Given the description of an element on the screen output the (x, y) to click on. 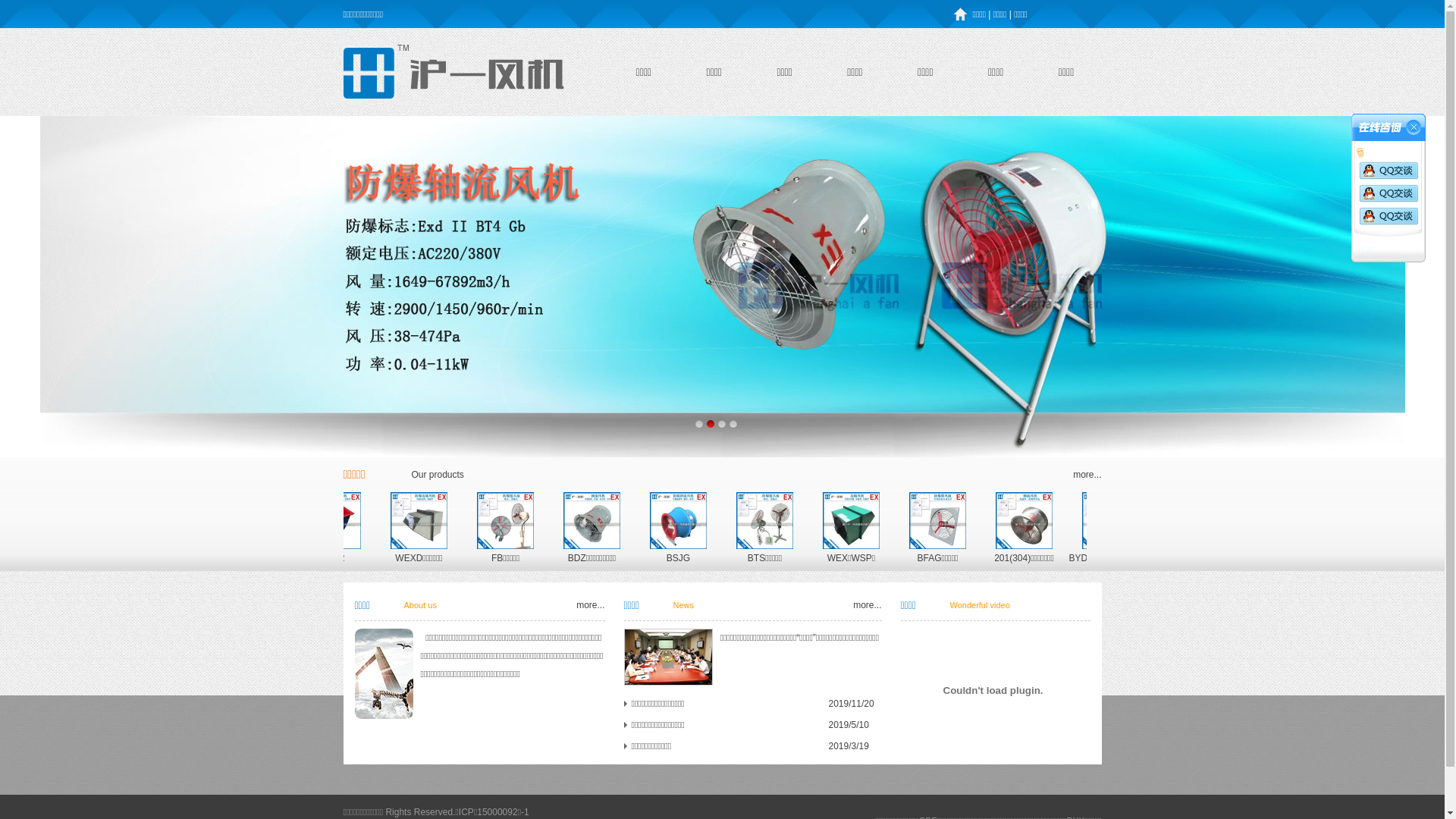
more... Element type: text (867, 604)
more... Element type: text (590, 604)
4 Element type: text (733, 423)
B4-72 Element type: text (523, 557)
3 Element type: text (721, 423)
2 Element type: text (710, 423)
BSJG Element type: text (860, 557)
1 Element type: text (698, 423)
more... Element type: text (1087, 474)
